Given the description of an element on the screen output the (x, y) to click on. 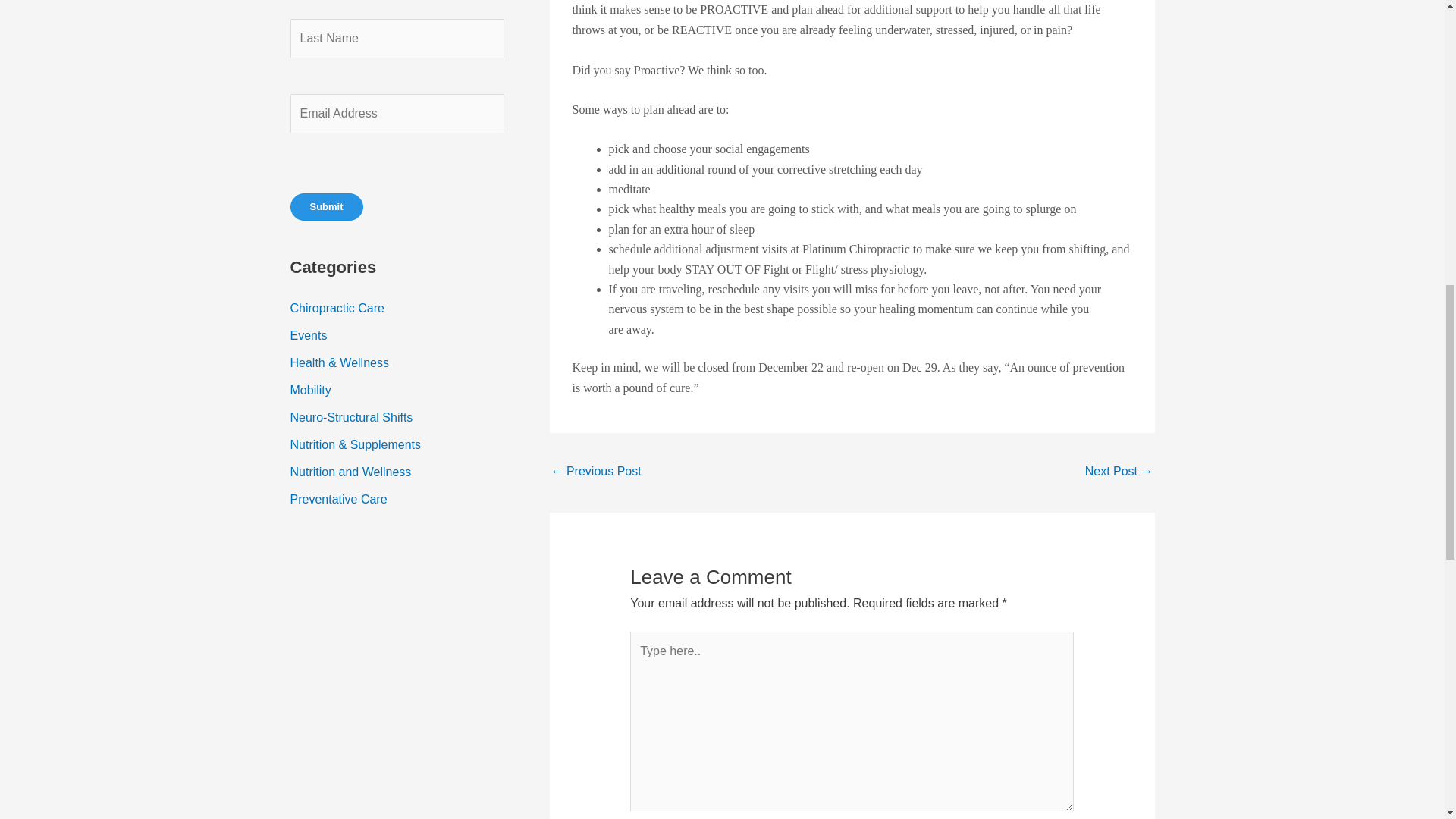
Neuro-Structural Shifts (350, 417)
Mobility (309, 390)
Mental Health Exercise (595, 472)
Events (307, 335)
Submit (325, 206)
New Years Nutrition (1118, 472)
Chiropractic Care (336, 308)
Submit (325, 206)
